Given the description of an element on the screen output the (x, y) to click on. 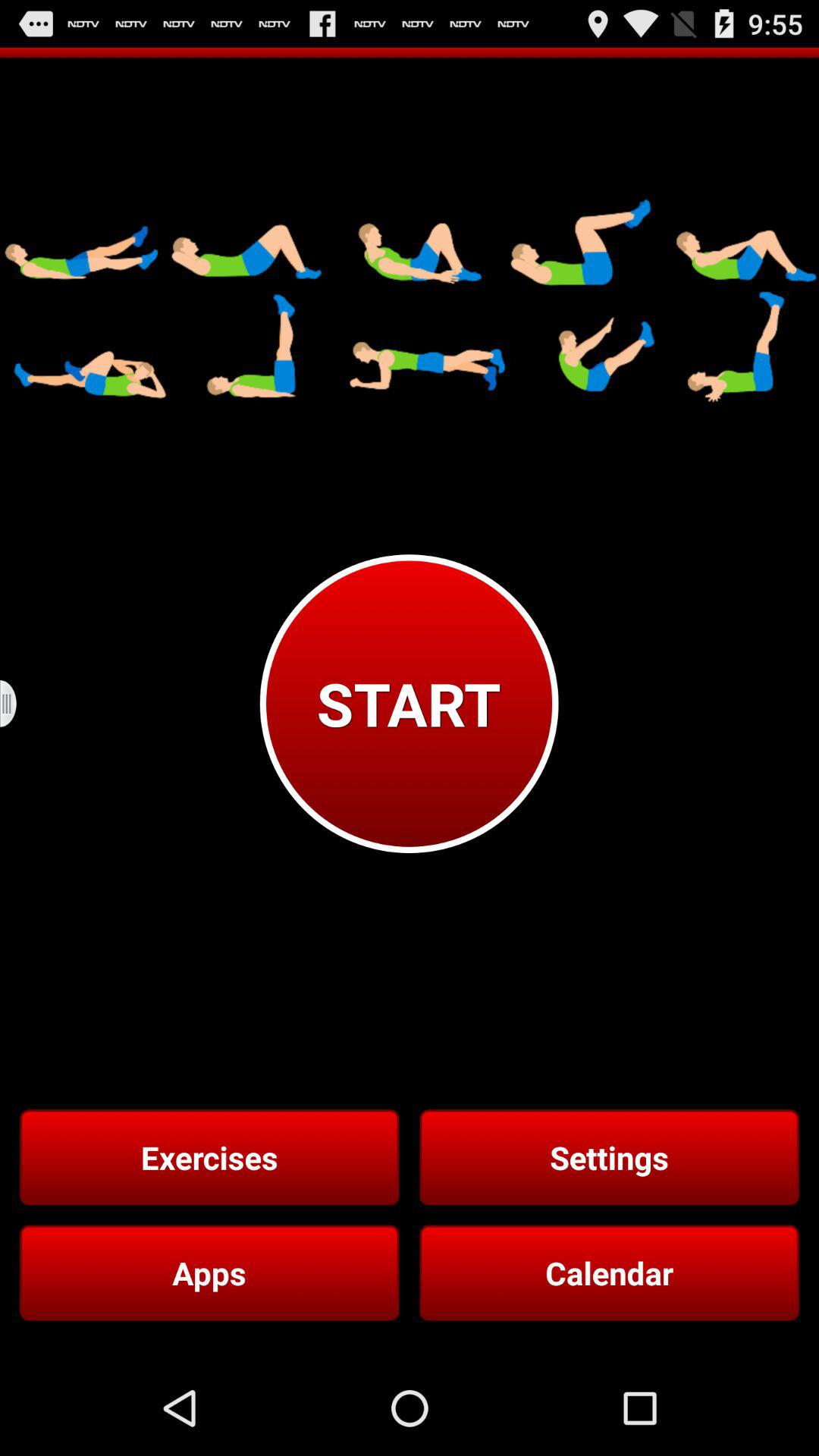
turn on button below the start button (609, 1157)
